Given the description of an element on the screen output the (x, y) to click on. 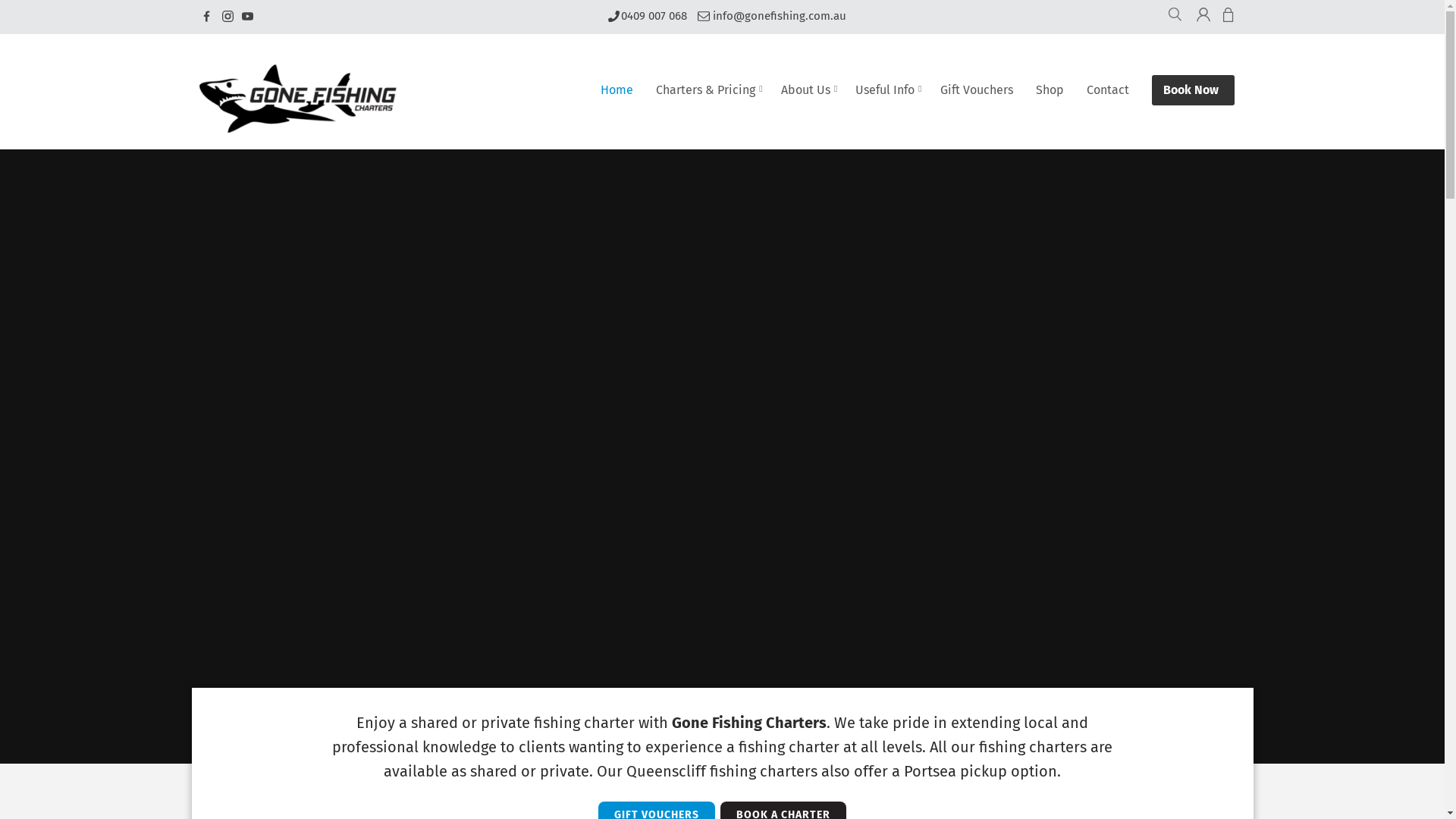
Skip to content Element type: text (434, 81)
Contact Element type: text (1108, 90)
Shop Element type: text (1051, 90)
Book Now Element type: text (1192, 90)
. Element type: text (246, 17)
. Element type: text (207, 17)
Charters & Pricing Element type: text (708, 90)
info@gonefishing.com.au Element type: text (771, 17)
0409 007 068 Element type: text (646, 17)
Gift Vouchers Element type: text (978, 90)
About Us Element type: text (809, 90)
Useful Info Element type: text (888, 90)
Home Element type: text (618, 90)
. Element type: text (227, 17)
